Given the description of an element on the screen output the (x, y) to click on. 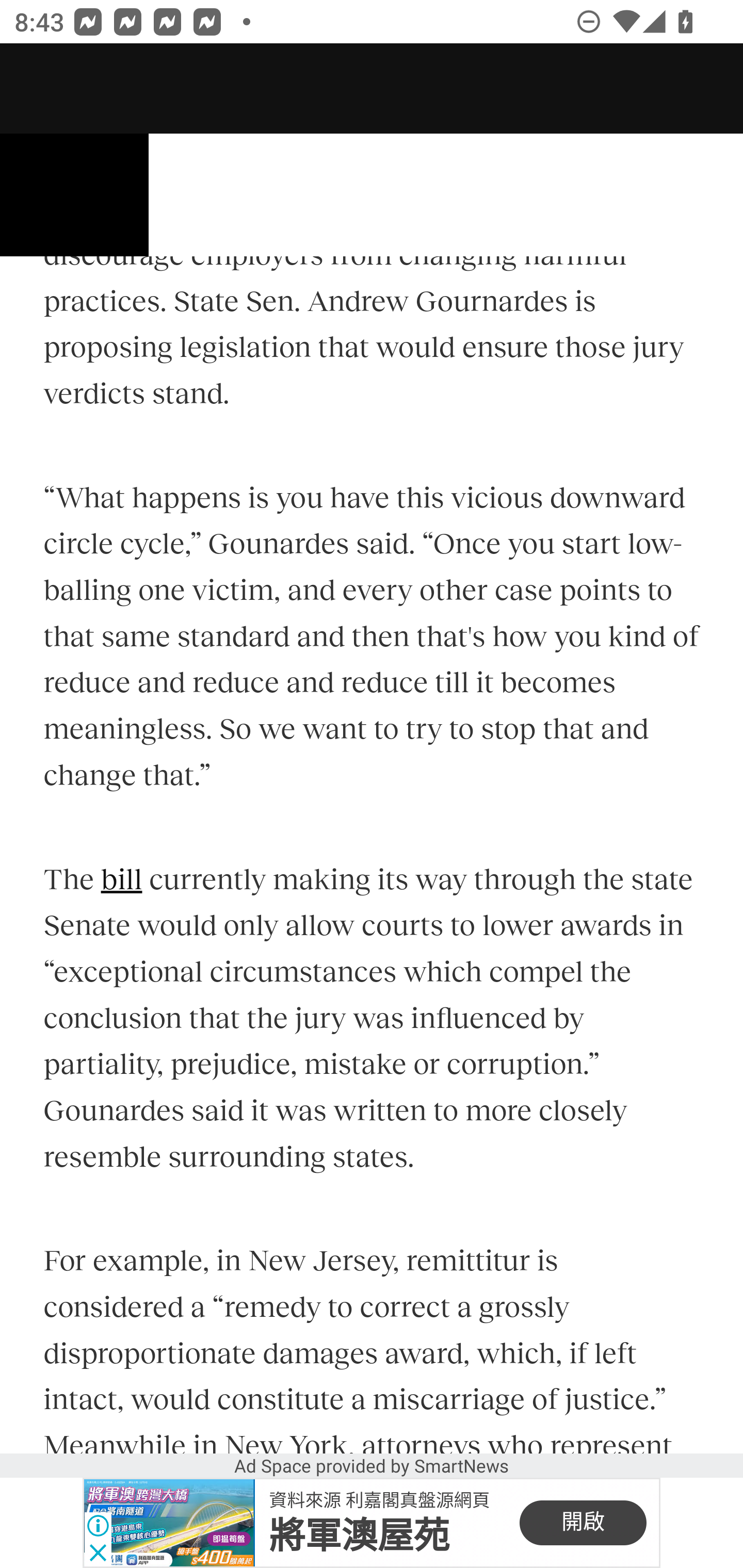
B29047822 (168, 1522)
資料來源 利嘉閣真盤源網頁 (379, 1499)
開啟 (582, 1522)
將軍澳屋苑 (359, 1535)
